Given the description of an element on the screen output the (x, y) to click on. 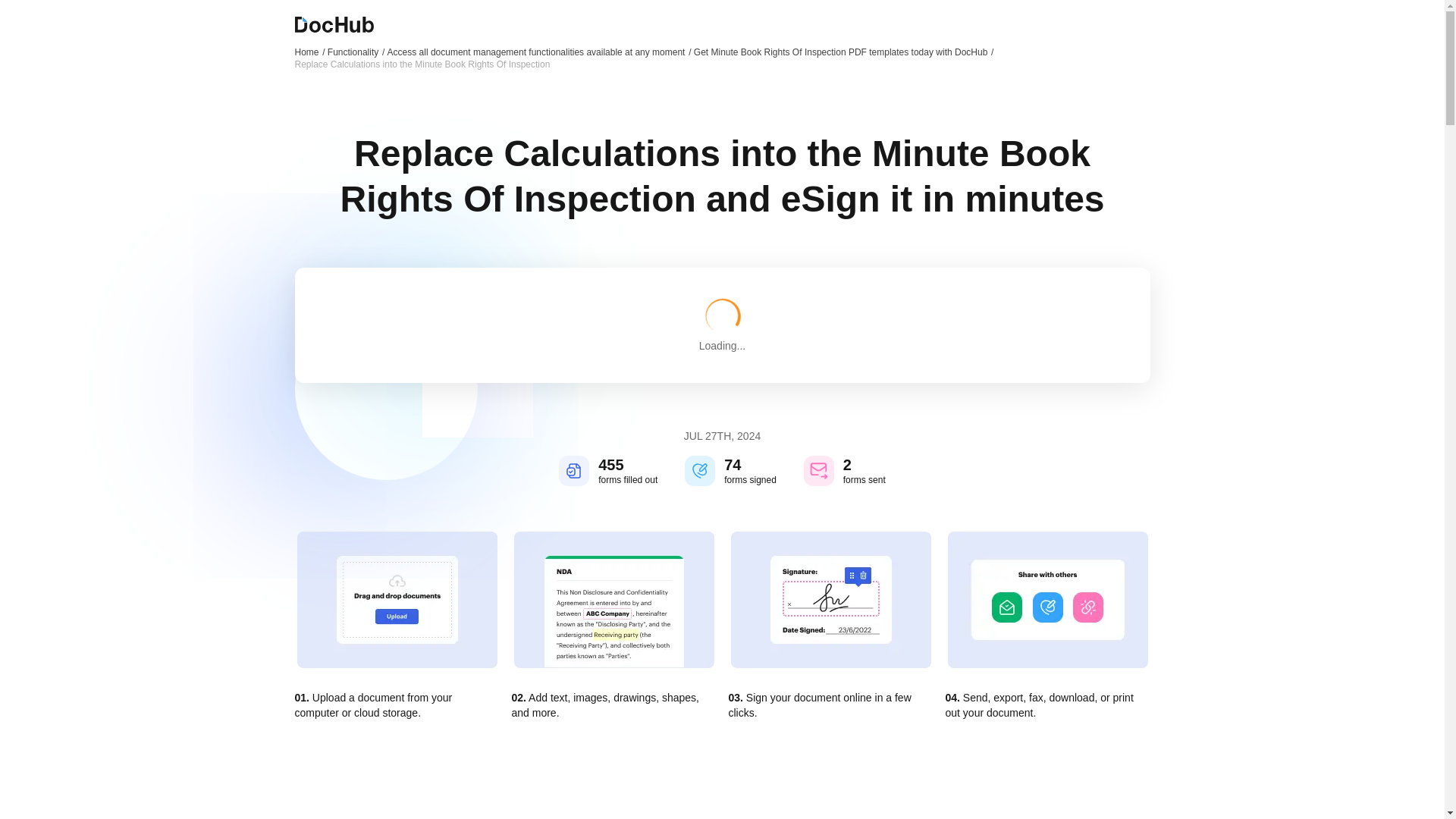
Functionality (355, 51)
Home (309, 51)
